Given the description of an element on the screen output the (x, y) to click on. 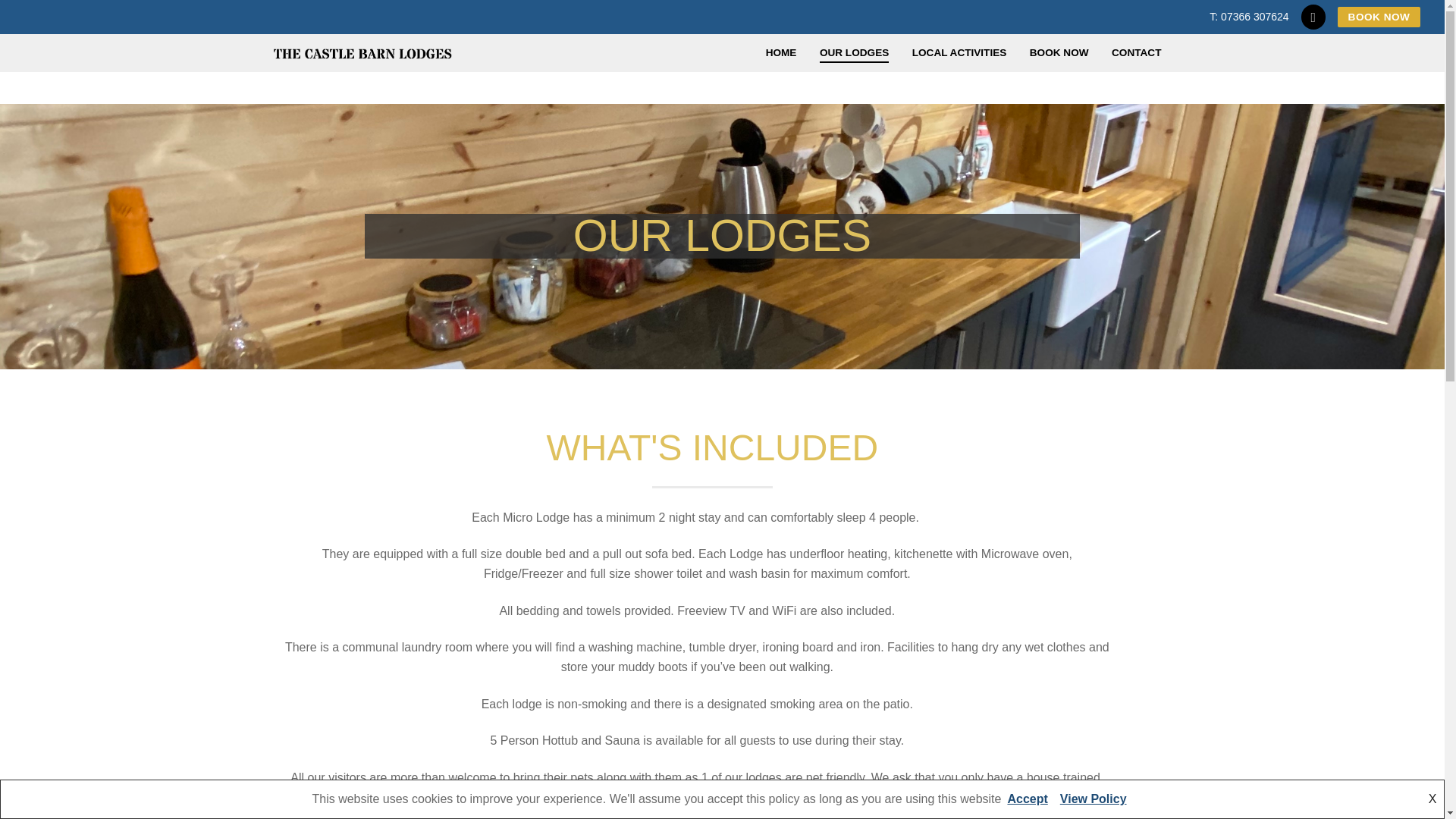
HOME (780, 52)
CONTACT (1136, 52)
OUR LODGES (853, 52)
BOOK NOW (1059, 52)
BOOK NOW (1379, 16)
LOCAL ACTIVITIES (959, 52)
Accept (1026, 798)
View Policy (1093, 798)
Facebook (1313, 17)
